Given the description of an element on the screen output the (x, y) to click on. 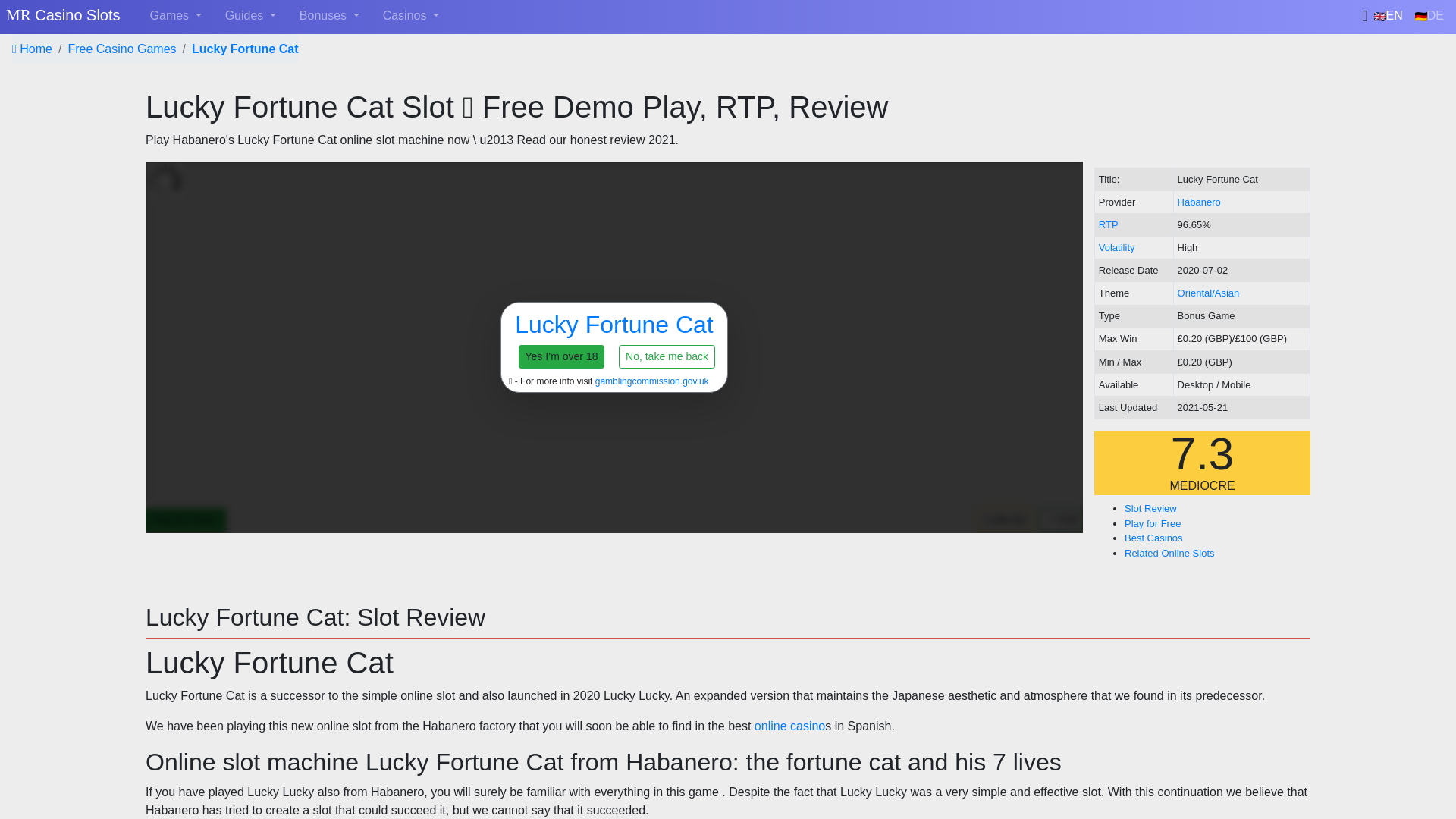
EN (1388, 15)
Lucky Fortune Cat (245, 48)
Games (176, 15)
MR Casino Slots (62, 15)
Guides (250, 15)
Casinos (411, 15)
DE (1429, 15)
Free Casino Games (121, 48)
Bonuses (329, 15)
